Given the description of an element on the screen output the (x, y) to click on. 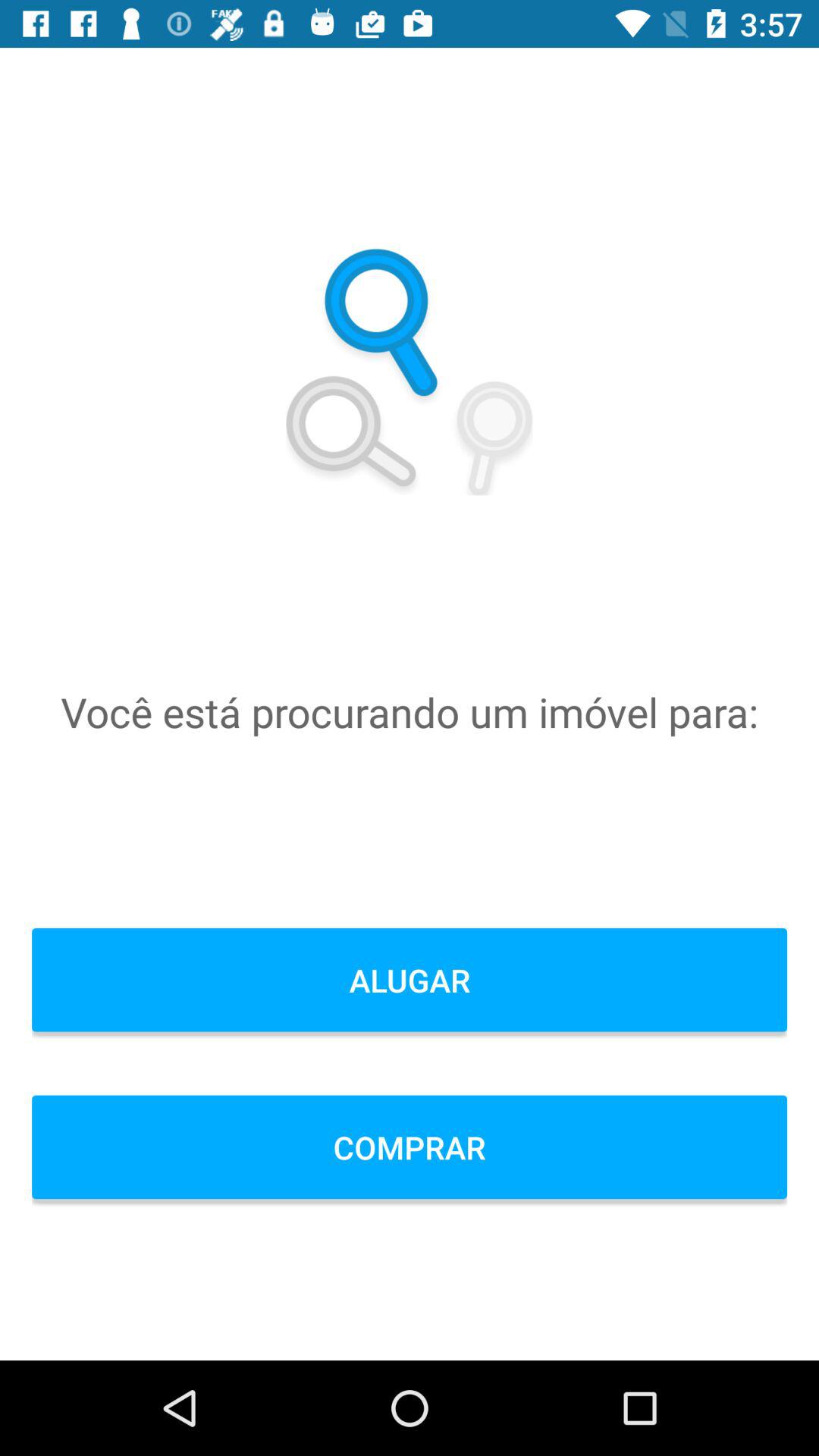
open item above comprar icon (409, 979)
